Given the description of an element on the screen output the (x, y) to click on. 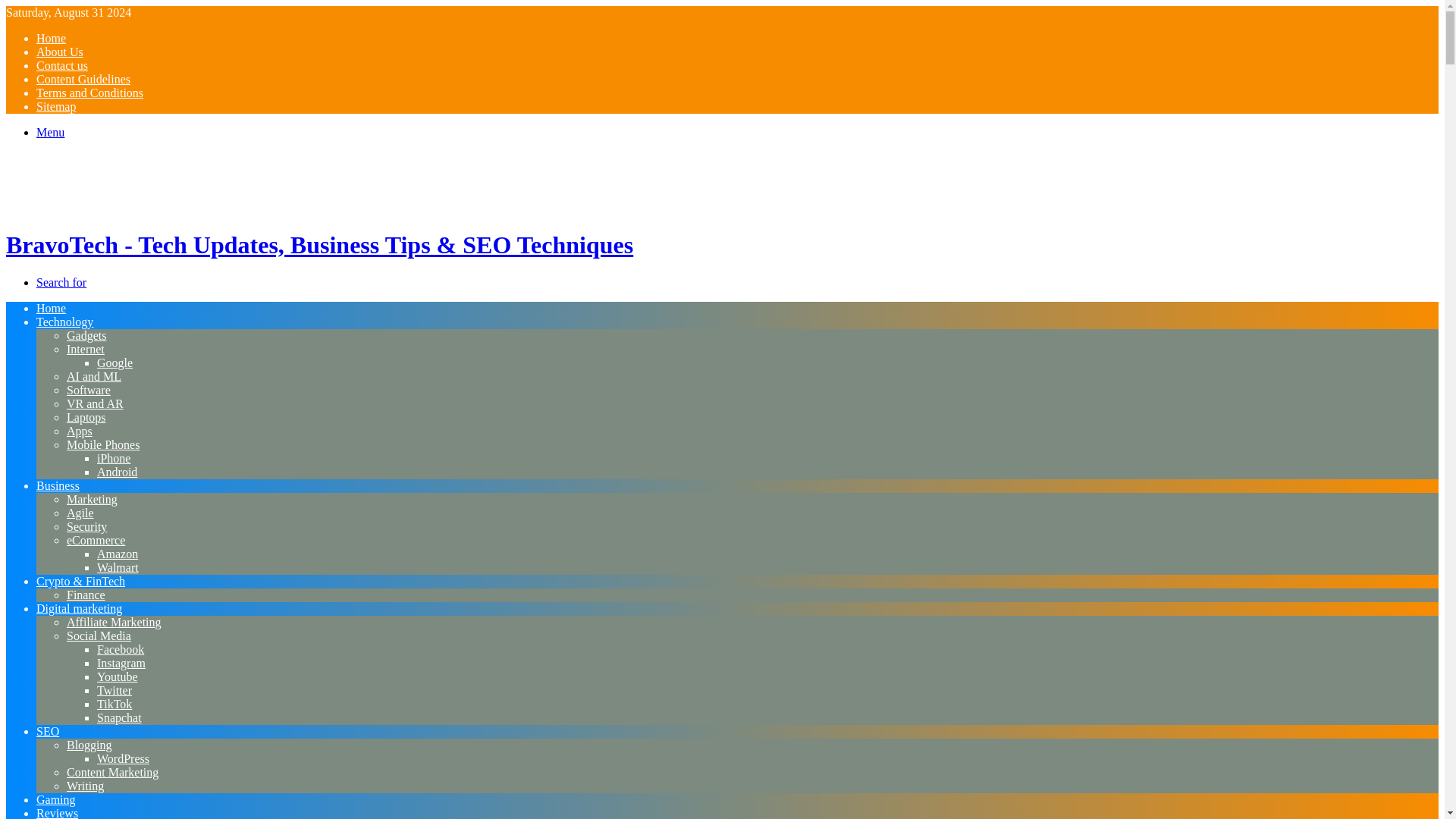
Gadgets (86, 335)
Security (86, 526)
Home (50, 308)
Technology (64, 321)
About Us (59, 51)
Software (88, 390)
AI and ML (93, 376)
Search for (60, 282)
Marketing (91, 499)
Snapchat (119, 717)
